Given the description of an element on the screen output the (x, y) to click on. 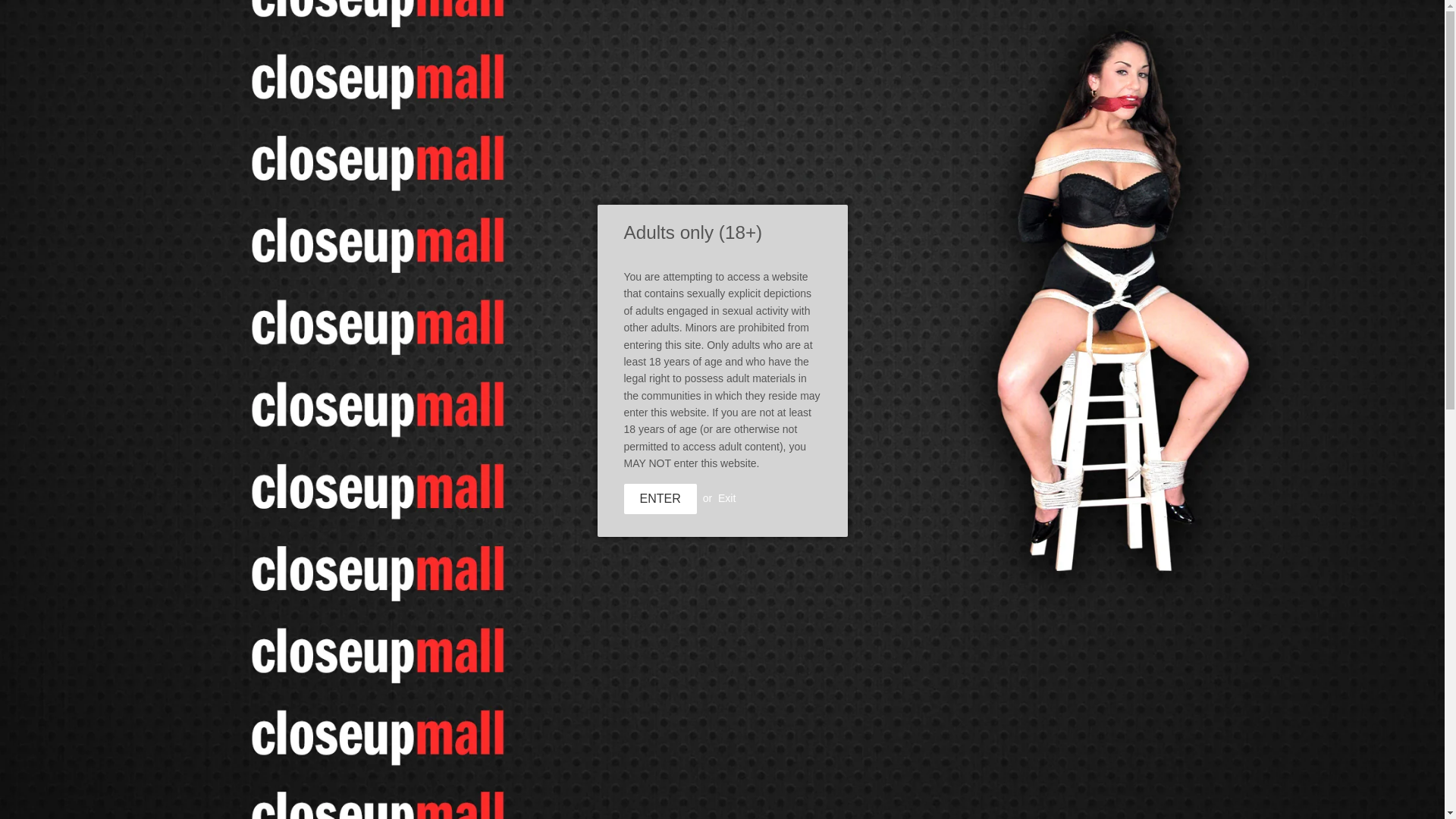
Exit (726, 498)
ENTER (659, 499)
Create an Account (1062, 45)
Sign in (986, 45)
HOME (361, 156)
Search (993, 82)
CATALOG (433, 156)
CART (1062, 81)
